Given the description of an element on the screen output the (x, y) to click on. 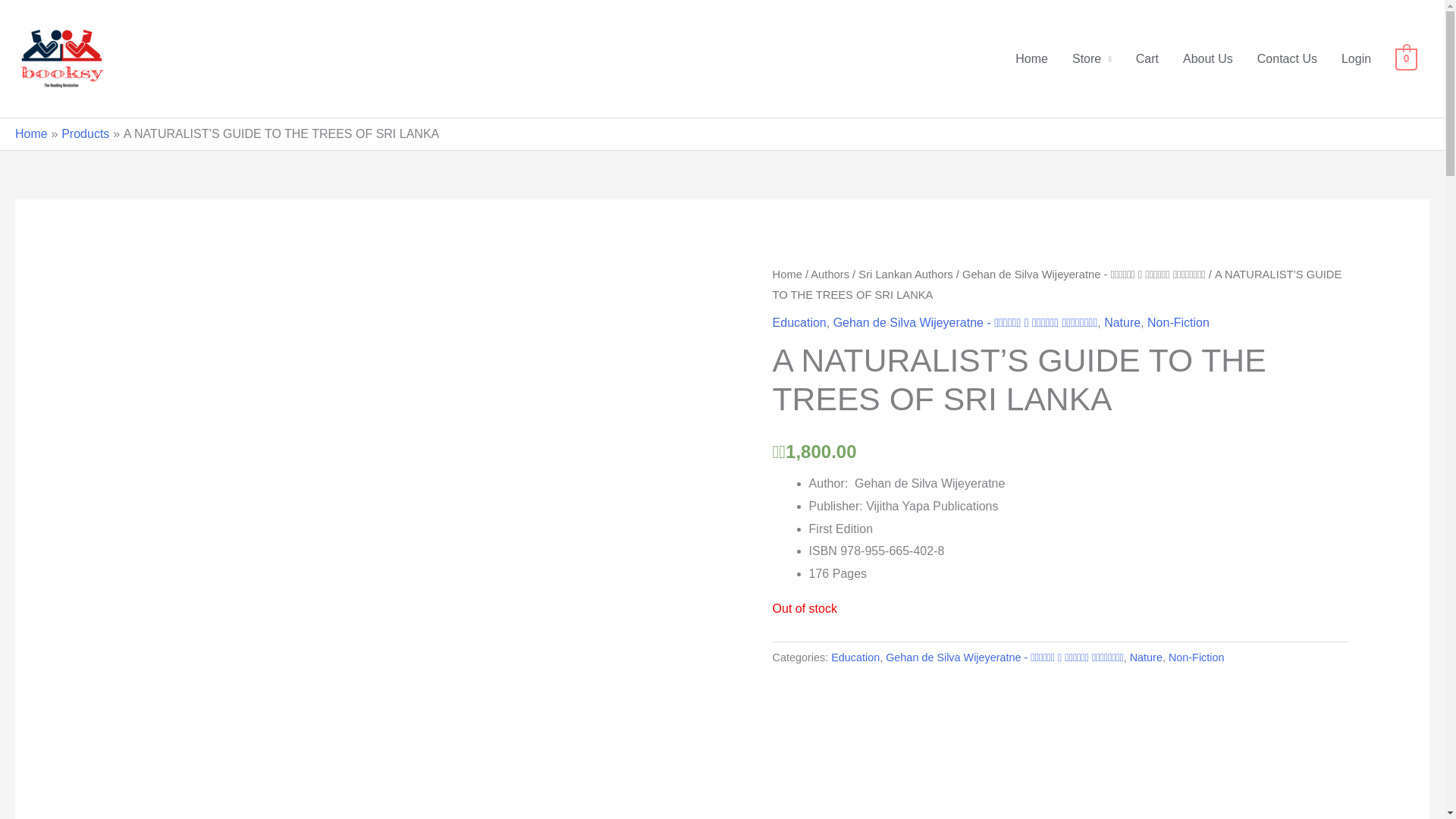
Login (1356, 59)
0 (1405, 57)
Non-Fiction (1196, 657)
Products (85, 133)
Contact Us (1286, 59)
Education (855, 657)
Education (800, 322)
Home (1031, 59)
About Us (1207, 59)
Store (1091, 59)
